Given the description of an element on the screen output the (x, y) to click on. 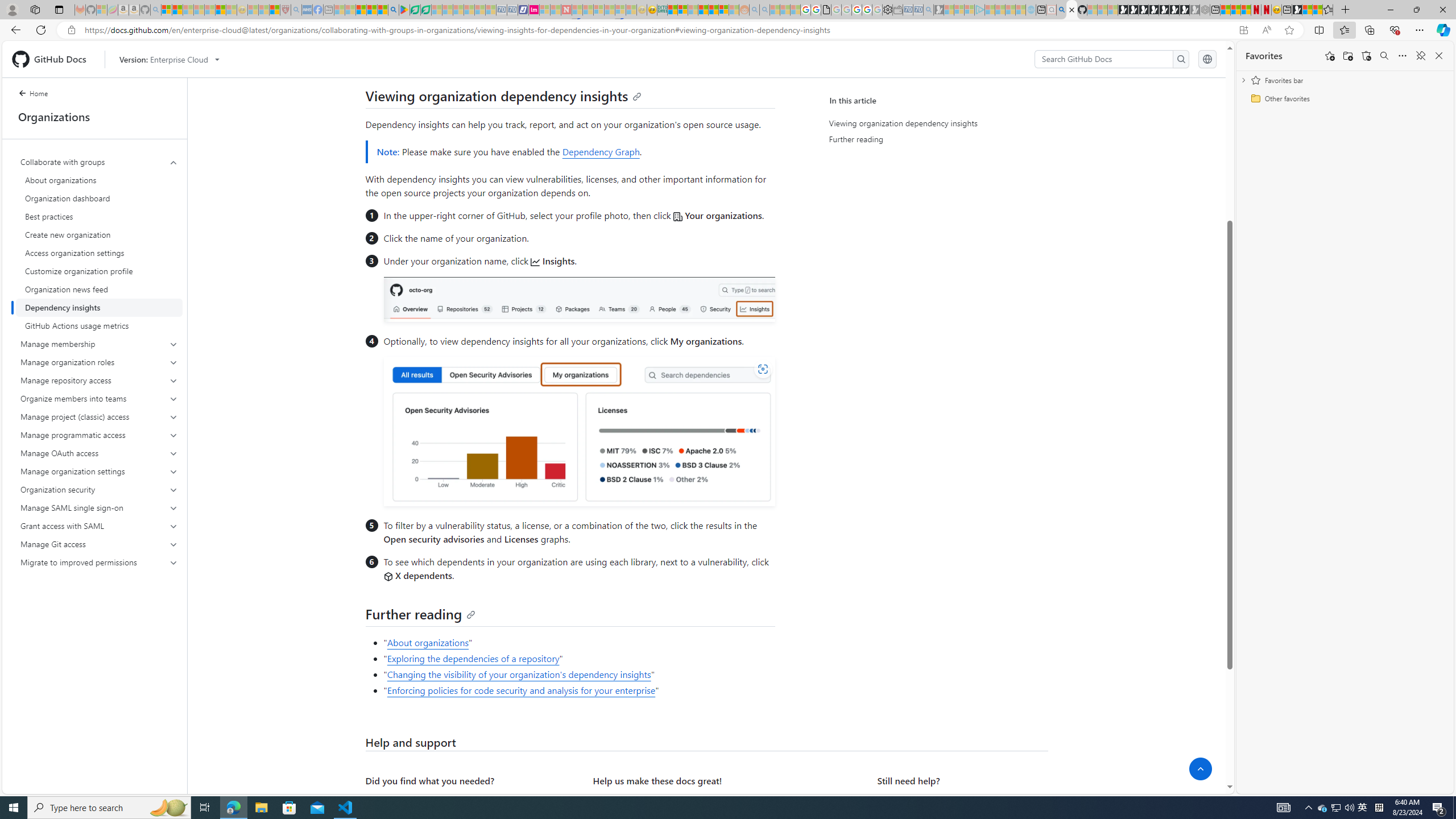
Search favorites (1383, 55)
Manage membership (99, 343)
